Given the description of an element on the screen output the (x, y) to click on. 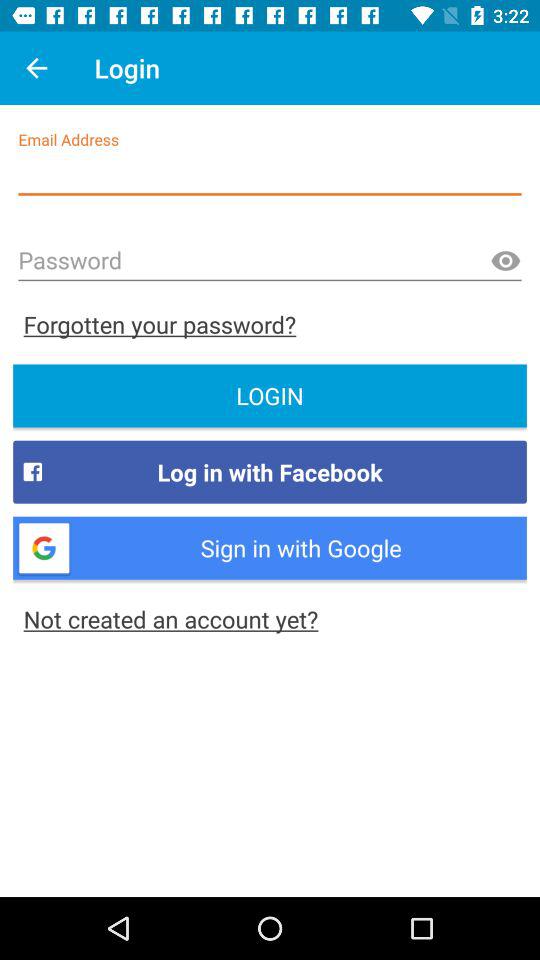
click to the show option (505, 261)
